Given the description of an element on the screen output the (x, y) to click on. 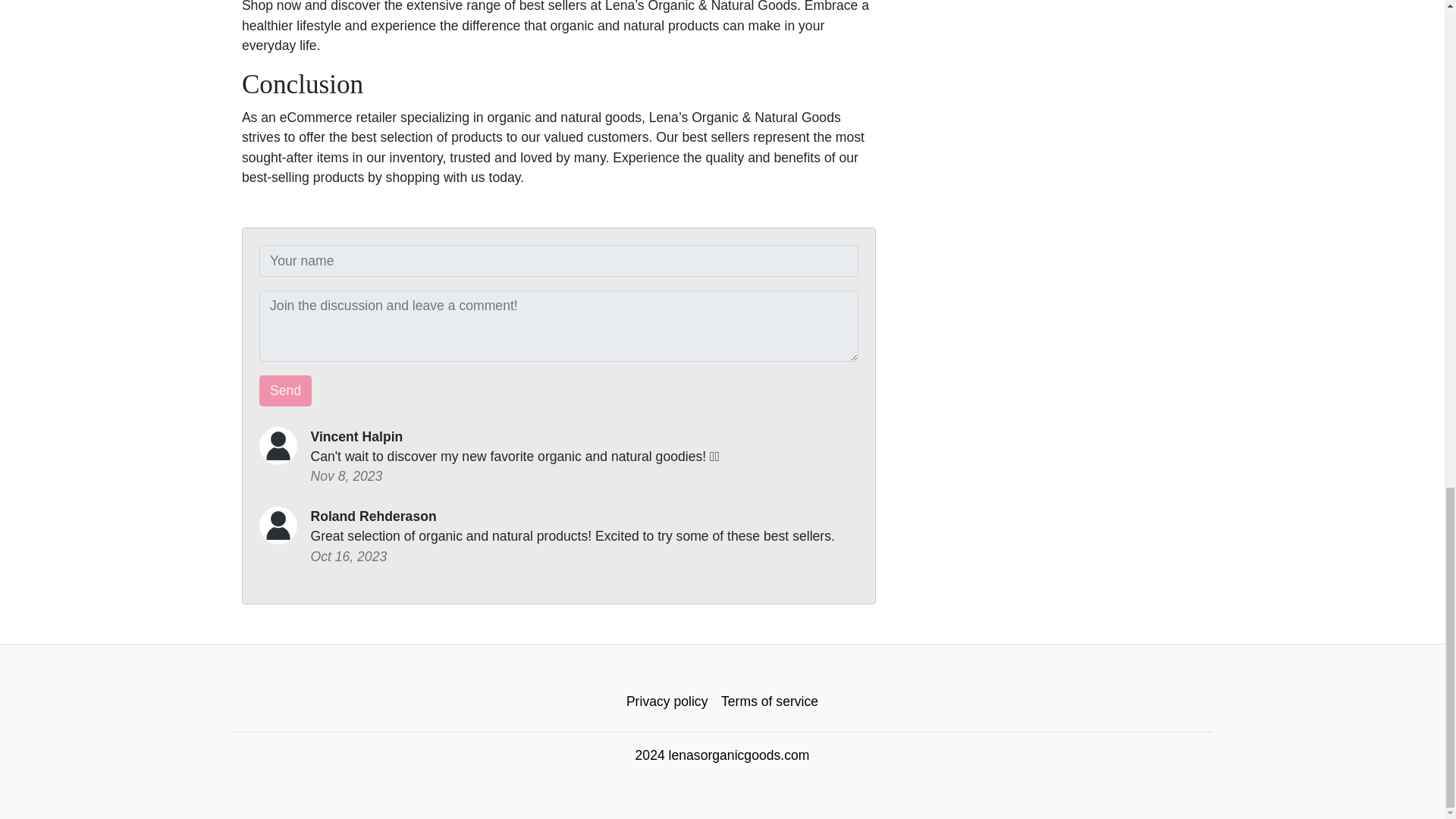
Terms of service (769, 701)
Send (285, 391)
Privacy policy (667, 701)
Send (285, 391)
